Given the description of an element on the screen output the (x, y) to click on. 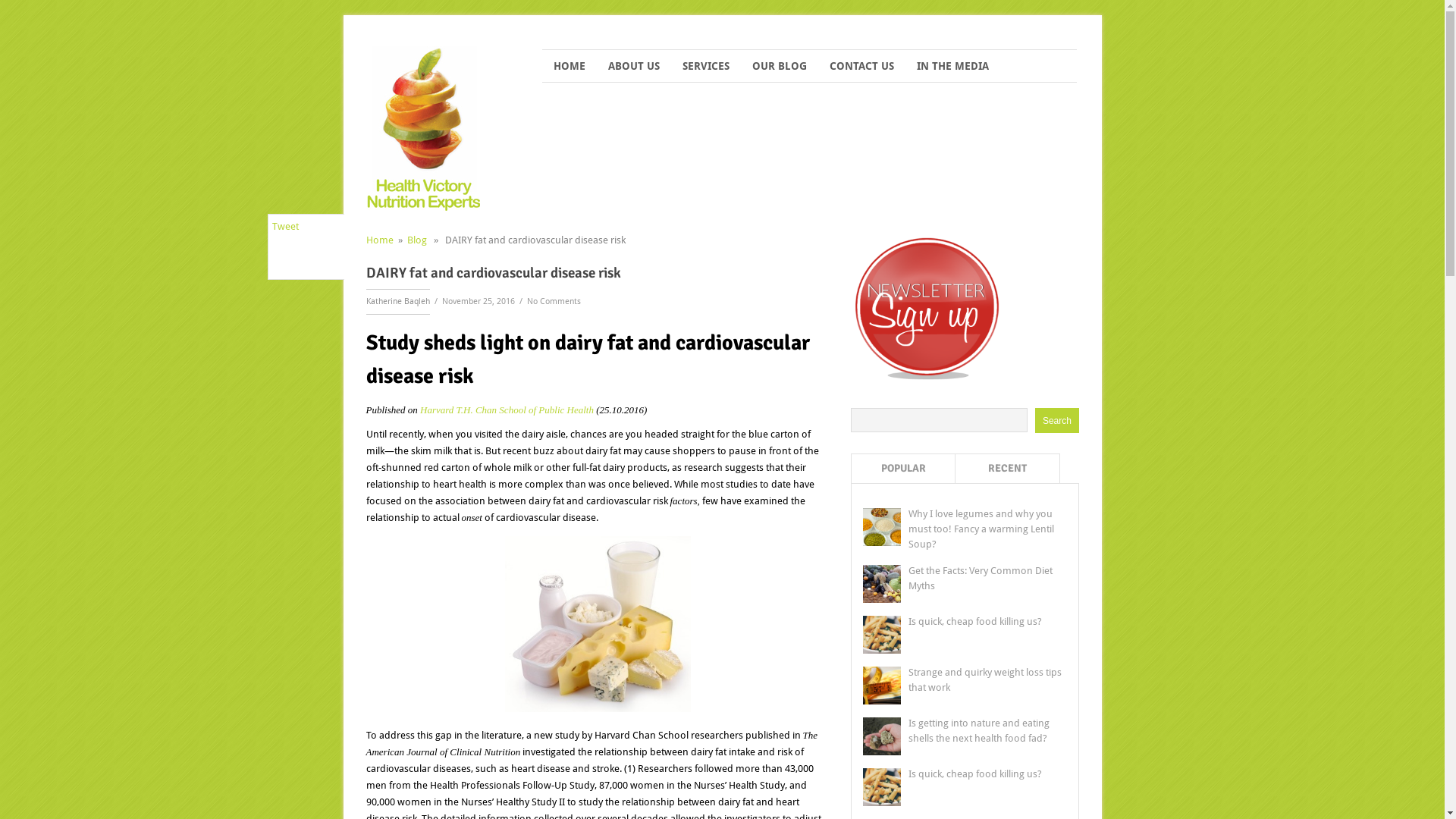
Harvard T.H. Chan School of Public Health Element type: text (506, 409)
OUR BLOG Element type: text (779, 65)
Tweet Element type: text (284, 226)
The American Journal of Clinical Nutrition Element type: text (591, 743)
Katherine Baqleh Element type: text (397, 301)
Is quick, cheap food killing us? Element type: text (974, 621)
POPULAR Element type: text (903, 468)
Is quick, cheap food killing us? Element type: text (974, 773)
Search Element type: text (1056, 420)
Strange and quirky weight loss tips that work Element type: text (984, 679)
Blog Element type: text (416, 239)
Home Element type: text (378, 239)
SERVICES Element type: text (705, 65)
ABOUT US Element type: text (633, 65)
CONTACT US Element type: text (861, 65)
HOME Element type: text (569, 65)
RECENT Element type: text (1007, 468)
IN THE MEDIA Element type: text (952, 65)
Get the Facts: Very Common Diet Myths Element type: text (980, 577)
